Given the description of an element on the screen output the (x, y) to click on. 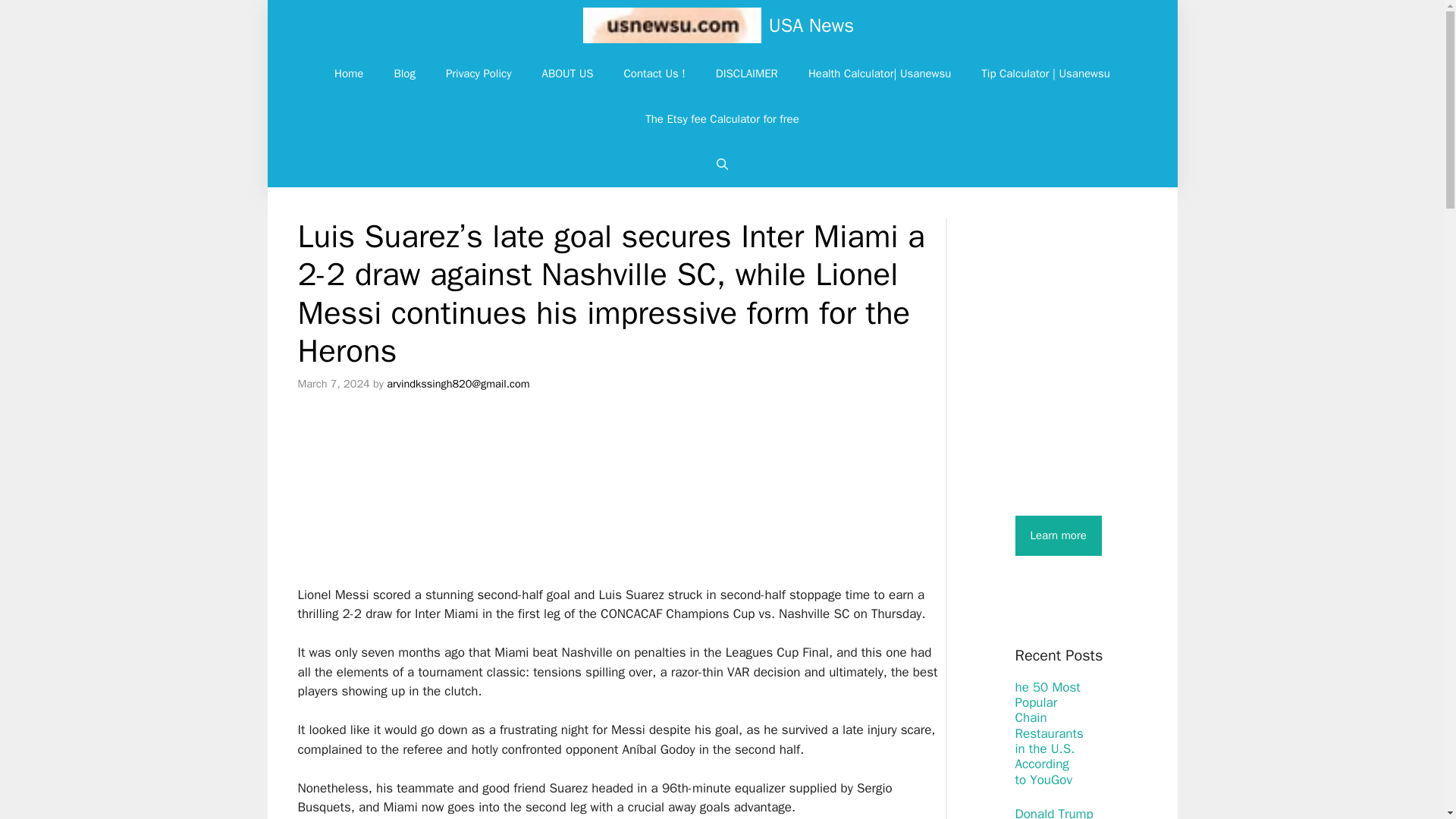
Contact Us ! (654, 73)
ABOUT US (567, 73)
Home (348, 73)
Blog (403, 73)
Privacy Policy (478, 73)
USA News (810, 25)
Learn more (1057, 535)
DISCLAIMER (746, 73)
The Etsy fee Calculator for free (721, 118)
USA News (672, 25)
